Given the description of an element on the screen output the (x, y) to click on. 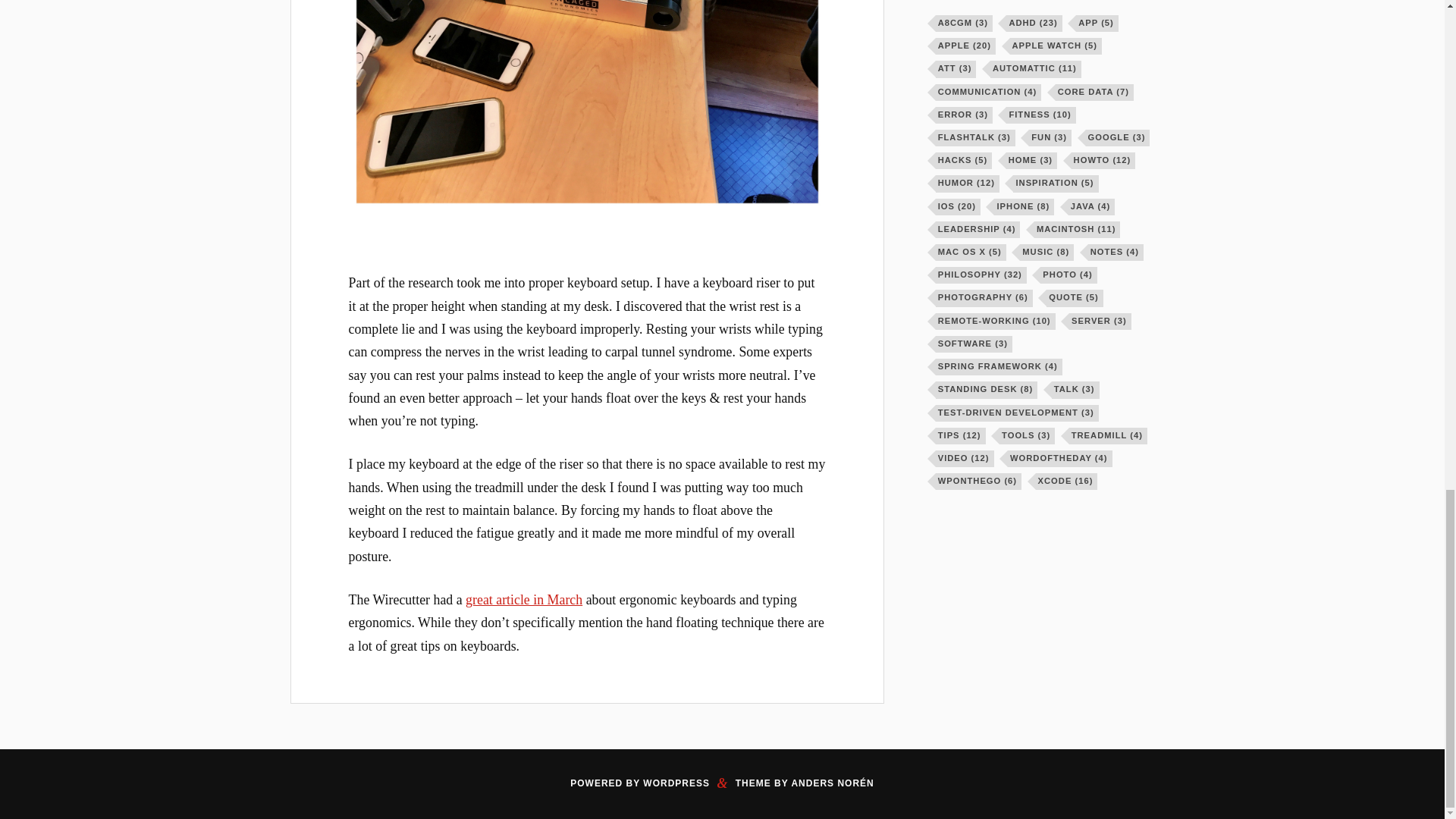
great article in March (523, 599)
